Given the description of an element on the screen output the (x, y) to click on. 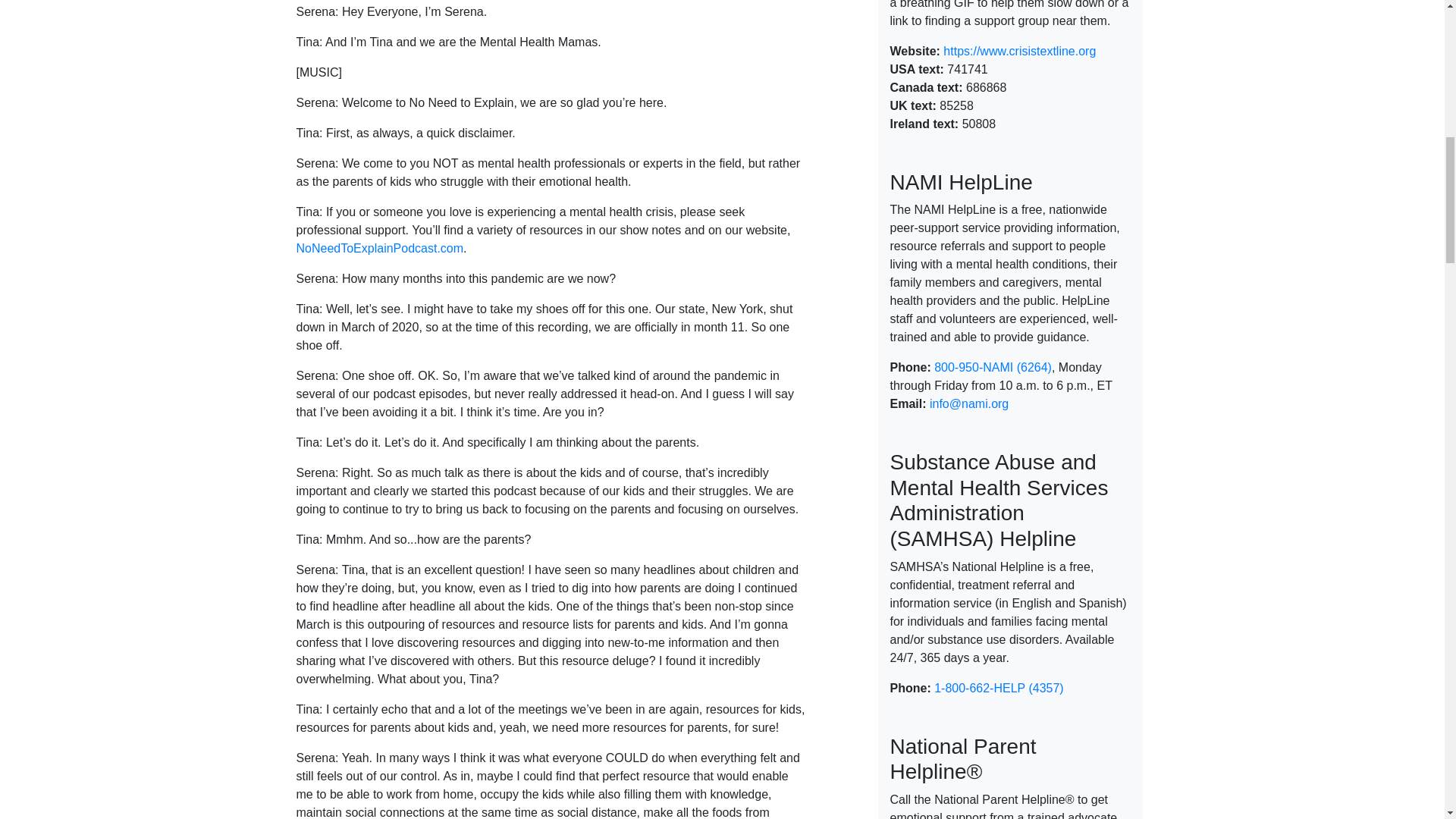
NoNeedToExplainPodcast.com (379, 247)
